Given the description of an element on the screen output the (x, y) to click on. 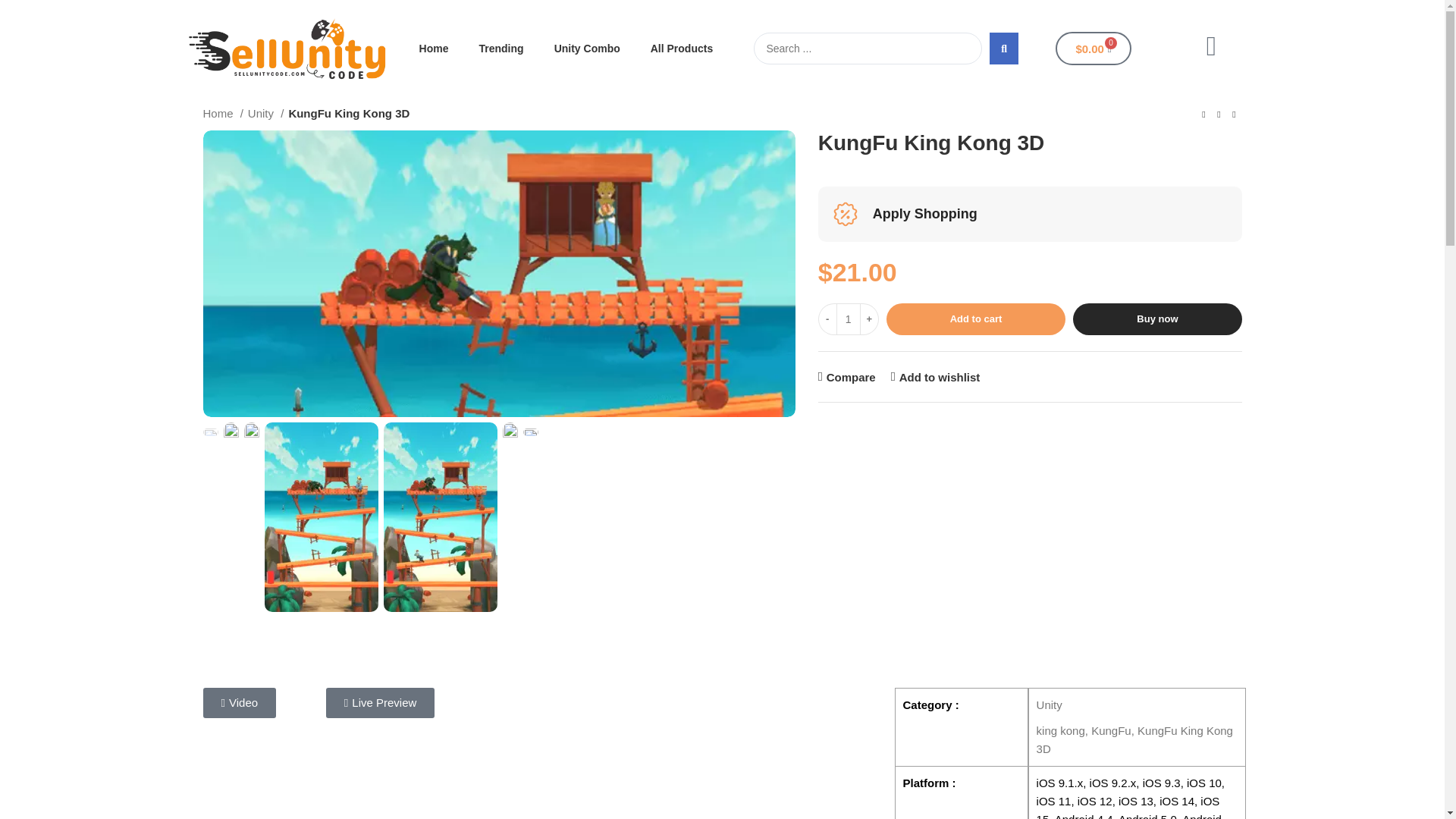
promotions.svg (844, 213)
All Products (681, 48)
Home (434, 48)
Unity Combo (586, 48)
Trending (501, 48)
